Given the description of an element on the screen output the (x, y) to click on. 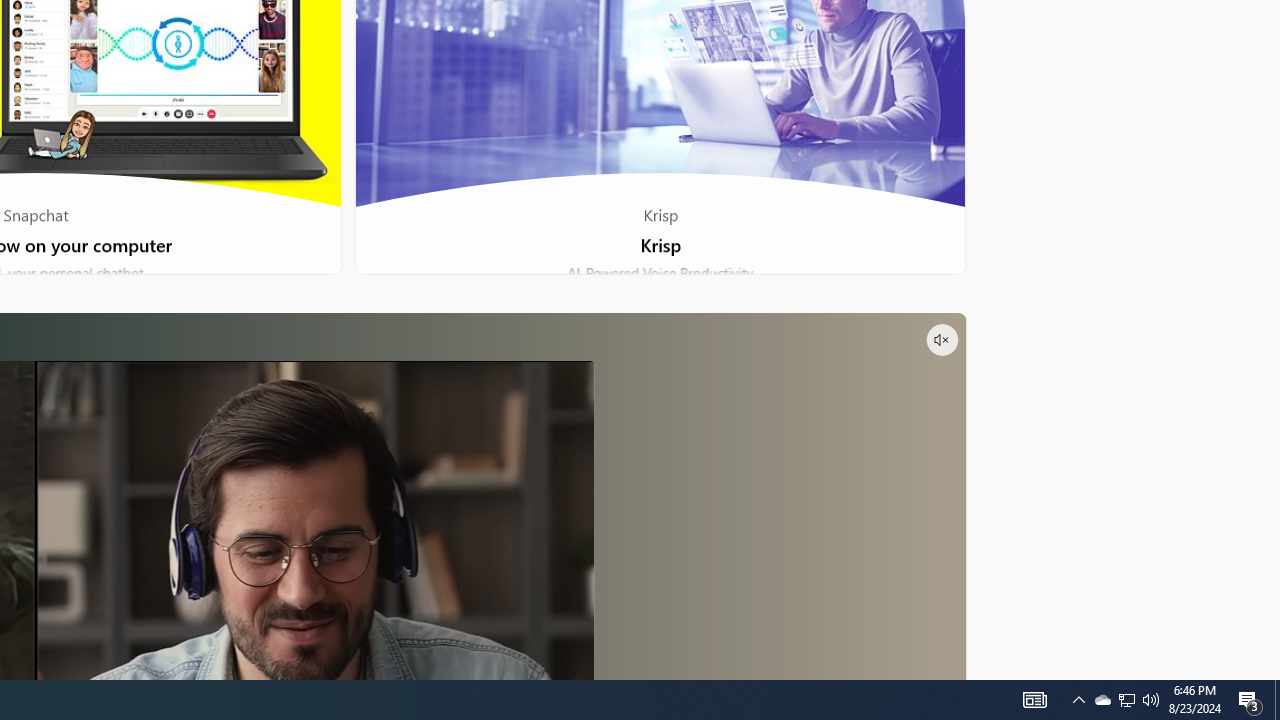
Unmute (941, 339)
